Given the description of an element on the screen output the (x, y) to click on. 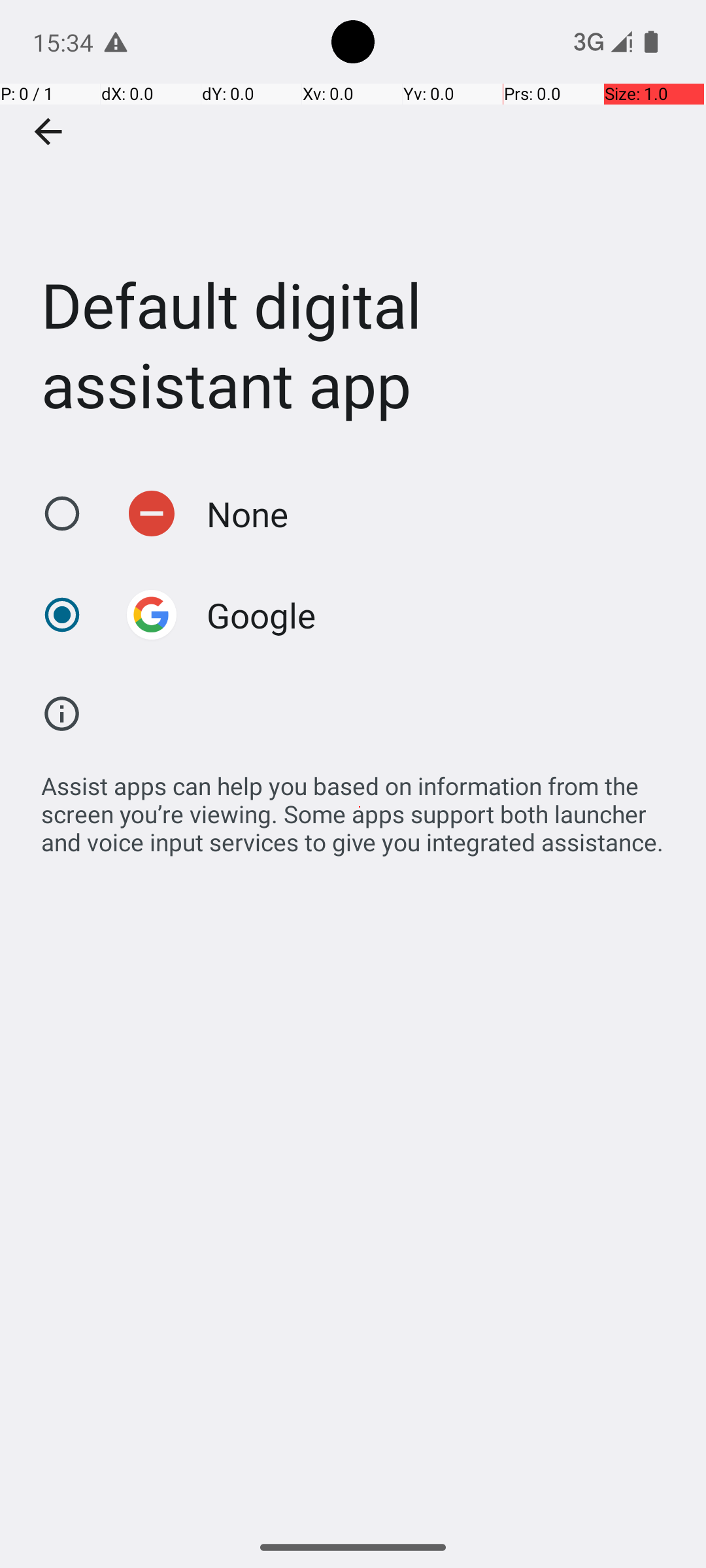
Default digital assistant app Element type: android.widget.FrameLayout (353, 231)
Google Element type: android.widget.TextView (260, 614)
Assist apps can help you based on information from the screen you’re viewing. Some apps support both launcher and voice input services to give you integrated assistance. Element type: android.widget.TextView (359, 806)
